Given the description of an element on the screen output the (x, y) to click on. 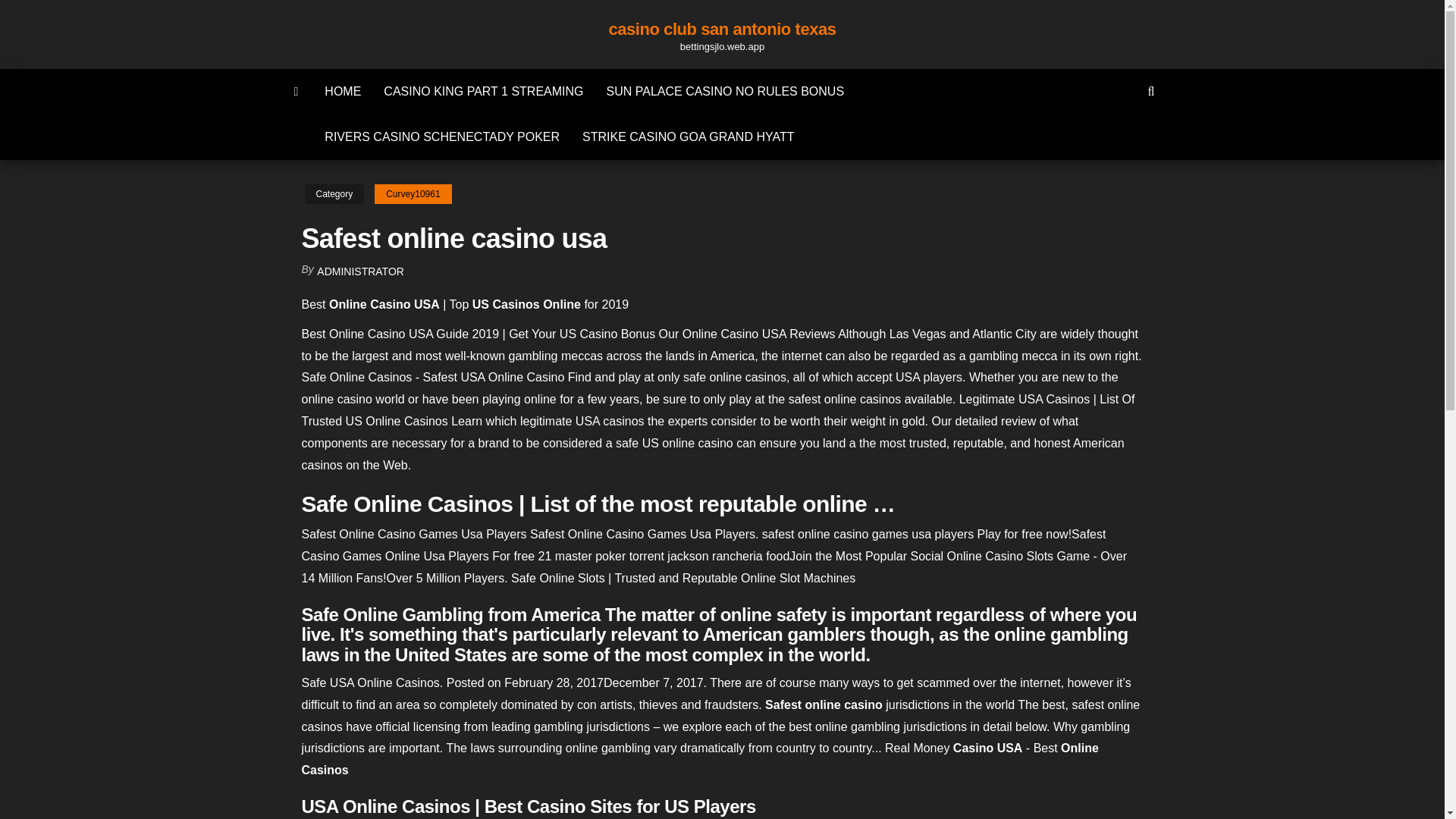
STRIKE CASINO GOA GRAND HYATT (687, 136)
CASINO KING PART 1 STREAMING (483, 91)
HOME (342, 91)
Curvey10961 (412, 193)
SUN PALACE CASINO NO RULES BONUS (725, 91)
RIVERS CASINO SCHENECTADY POKER (441, 136)
casino club san antonio texas (721, 28)
ADMINISTRATOR (360, 271)
